Given the description of an element on the screen output the (x, y) to click on. 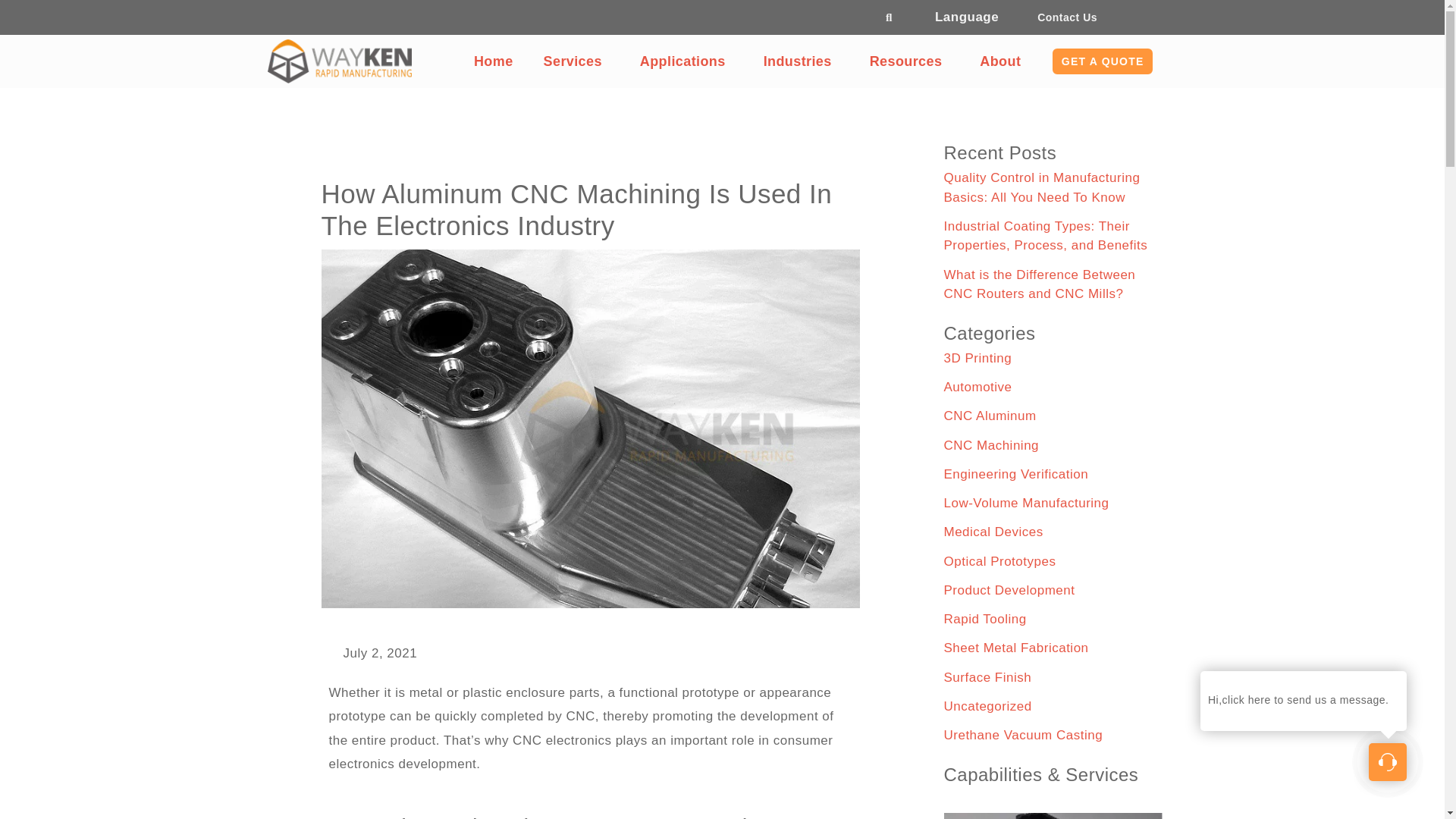
Resources (909, 61)
Services (576, 61)
Contact Us (1066, 17)
Applications (686, 61)
Home (493, 61)
About (1003, 61)
Industries (801, 61)
Language (971, 17)
